Given the description of an element on the screen output the (x, y) to click on. 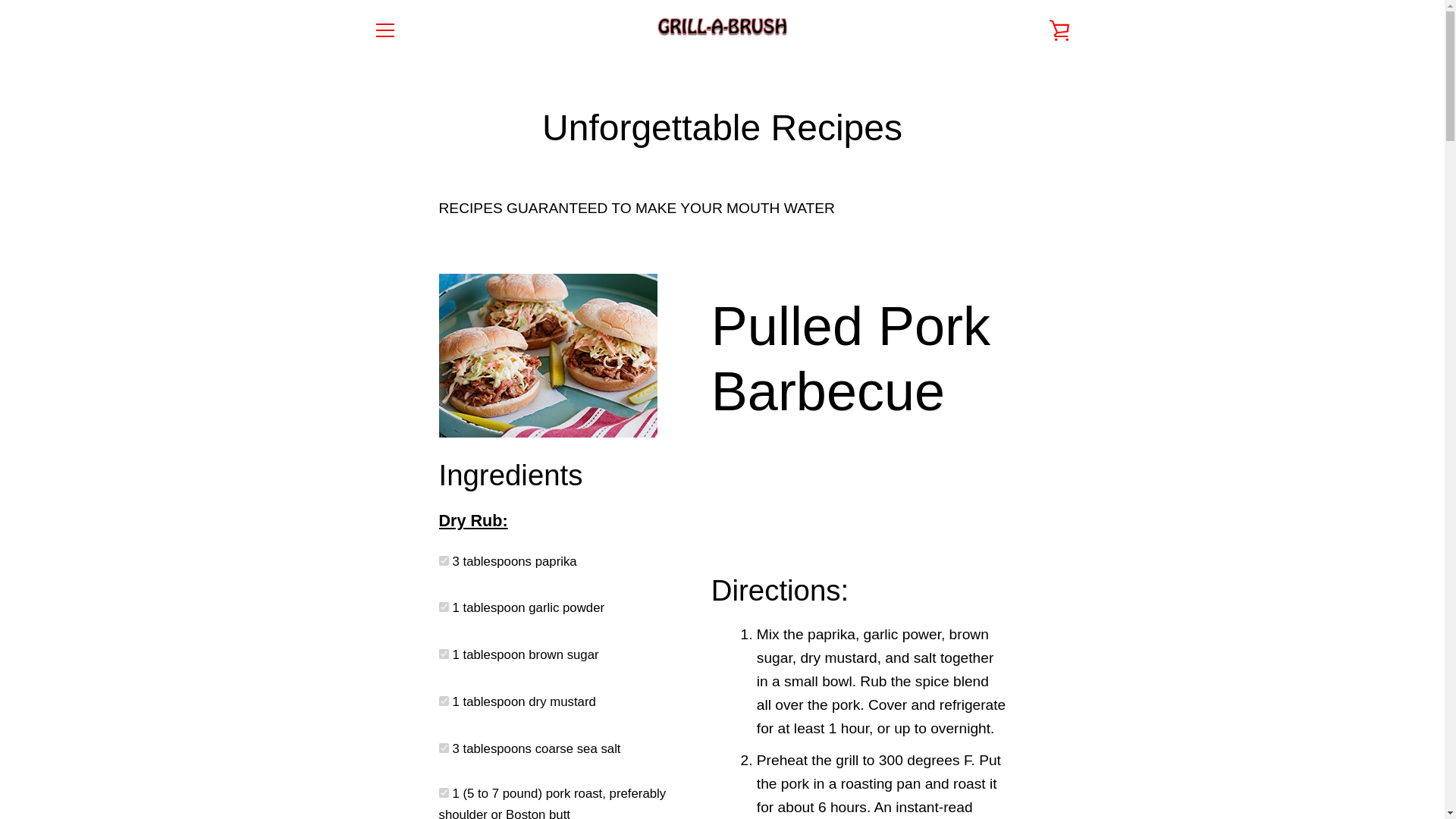
GRILLASHARP KNIFE SHARPENER (475, 693)
Mastercard (988, 778)
HOME PAGE (408, 567)
3 tablespoons coarse sea salt (443, 747)
Shop Pay (1022, 778)
Grill-A-Brush (736, 753)
CONTACT US (411, 617)
3 tablespoons paprika (443, 560)
1 tablespoon dry mustard (443, 700)
1 tablespoon brown sugar (443, 654)
Discover (988, 754)
Visa (1057, 778)
Apple Pay (918, 754)
American Express (883, 754)
1 tablespoon garlic powder (443, 606)
